Given the description of an element on the screen output the (x, y) to click on. 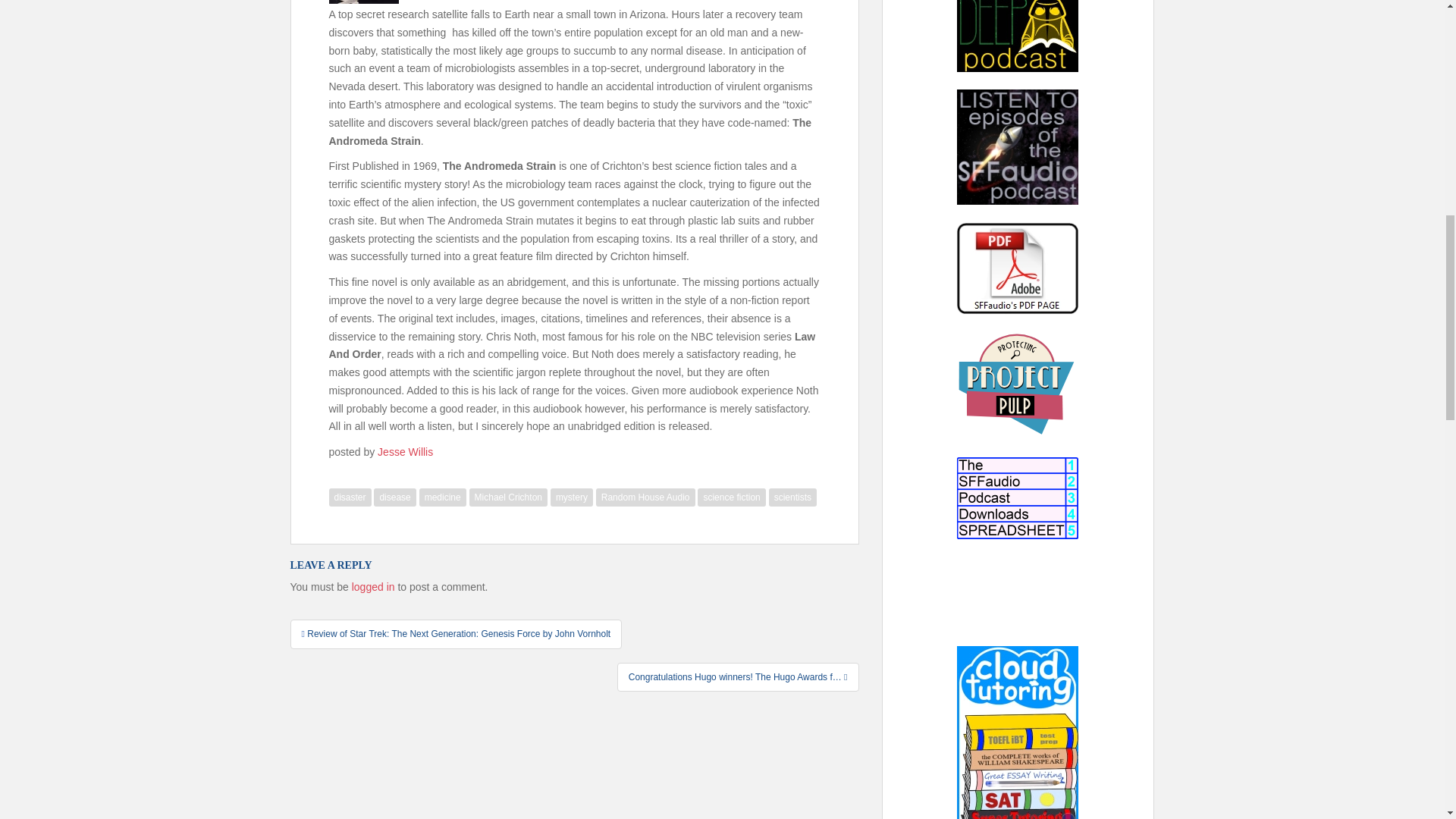
The SFFaudio Podcast Downloads SPREADSHEET (1017, 497)
disaster (350, 497)
medicine (442, 497)
disease (394, 497)
Listen To Past Episodes Of The SFFaudio Podcast (1017, 146)
Jesse Willis (404, 451)
